Given the description of an element on the screen output the (x, y) to click on. 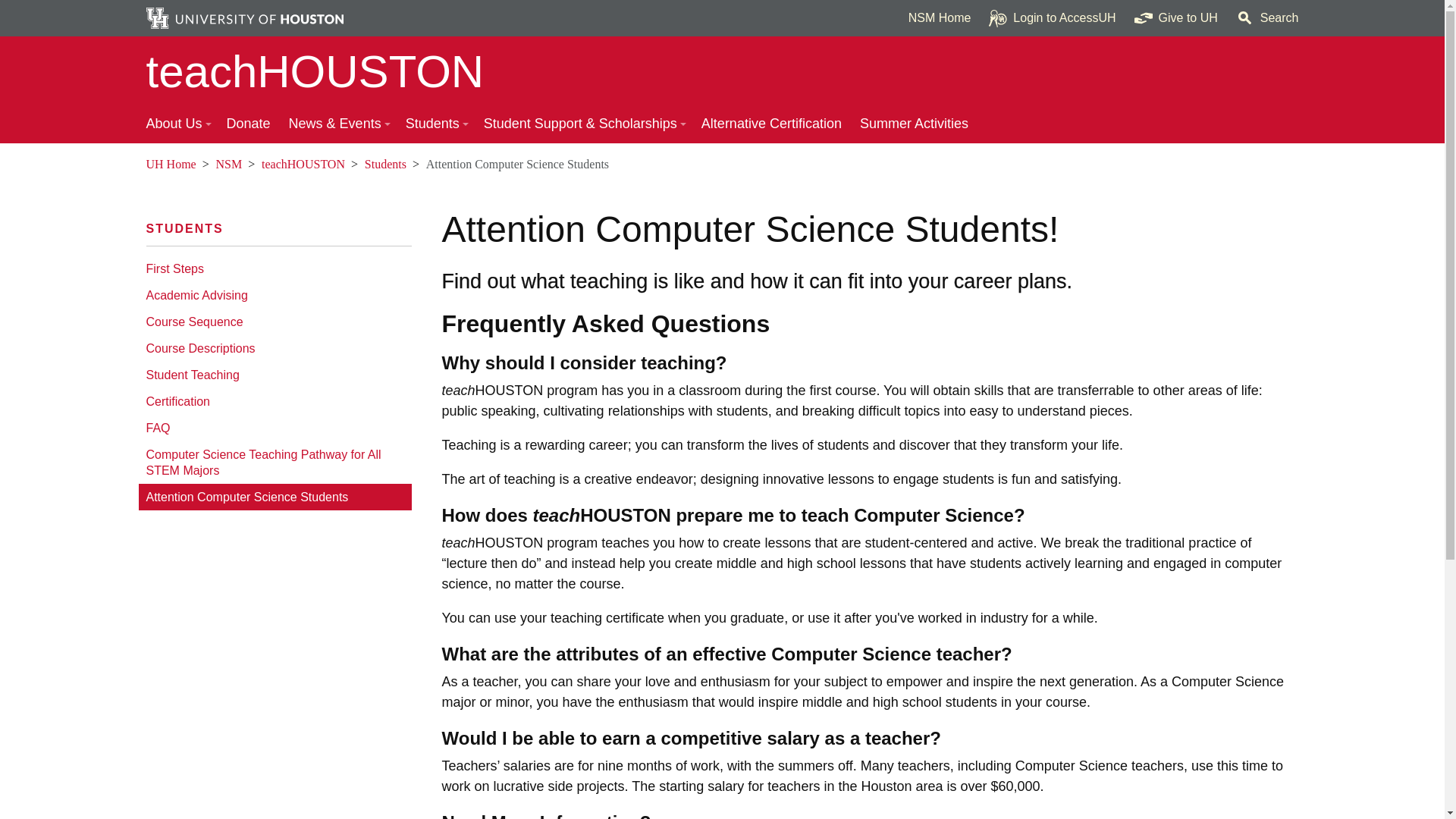
University of Houston (1208, 17)
teachHOUSTON (303, 164)
Course Descriptions (274, 347)
Certification (274, 401)
NSM (229, 164)
About Us (176, 123)
University of Houston (154, 164)
FAQ (274, 427)
Give to UH (1176, 18)
Donate (247, 123)
